Given the description of an element on the screen output the (x, y) to click on. 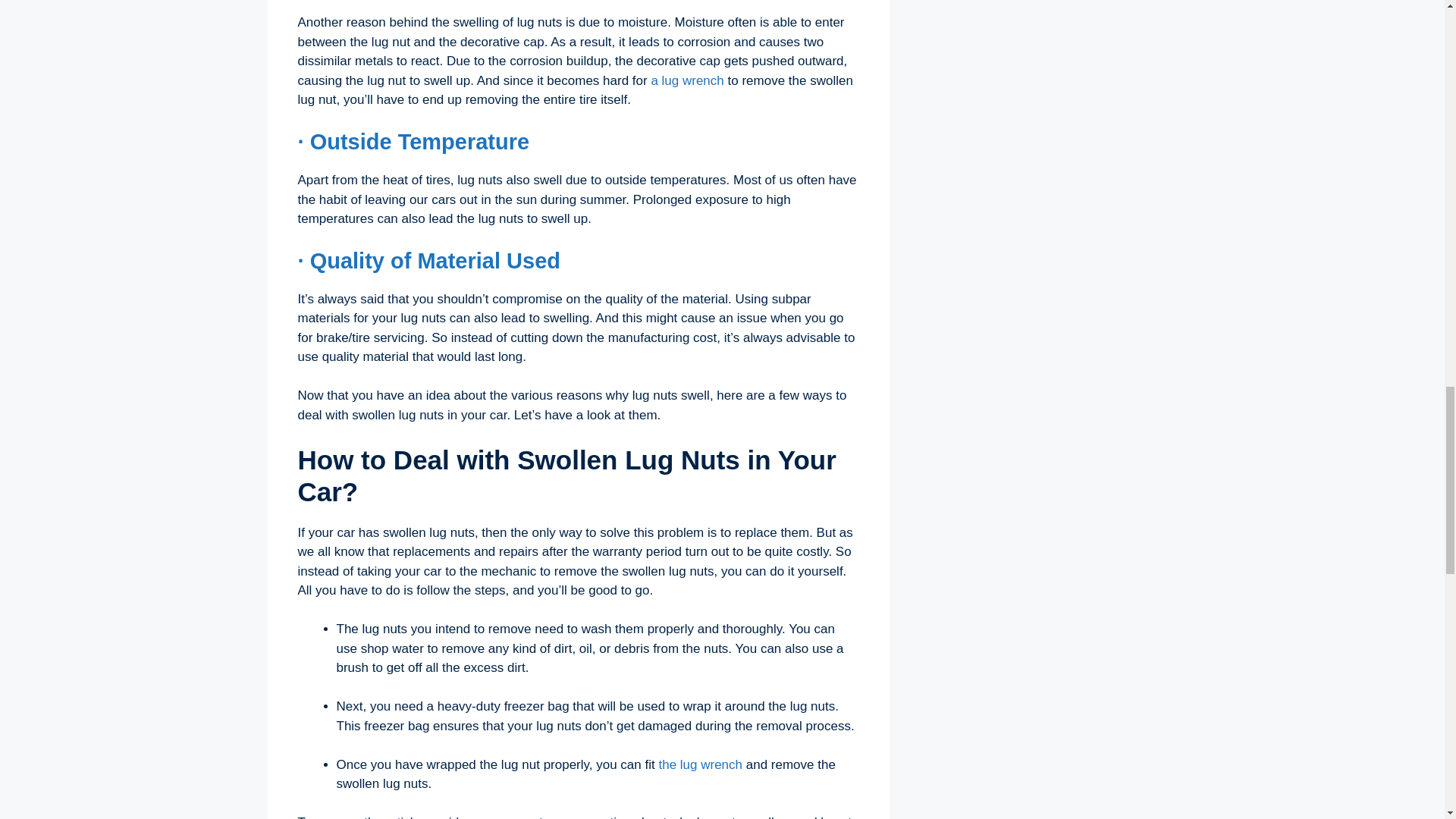
the lug wrench (700, 764)
a lug wrench (686, 80)
